Given the description of an element on the screen output the (x, y) to click on. 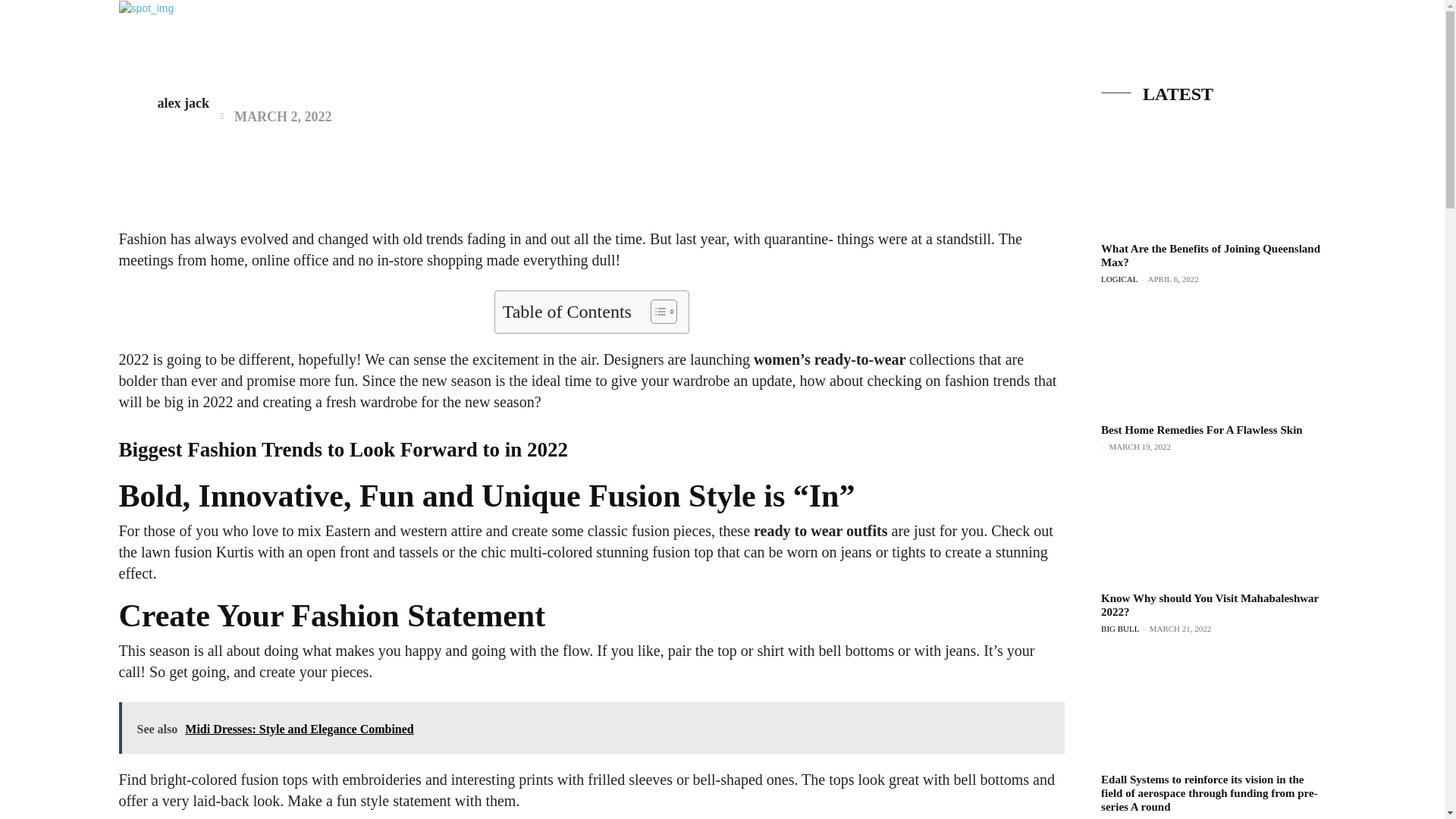
Linkedin (1380, 58)
Entertainment (879, 40)
Lifestyle (1051, 40)
Home Decor (1244, 40)
Law (1175, 40)
General (1120, 40)
Business (715, 40)
Net worth (789, 40)
Businesstimenow (107, 36)
Facebook (1353, 58)
Technology (973, 40)
Businesstimenow (107, 36)
RSS (1408, 58)
